Given the description of an element on the screen output the (x, y) to click on. 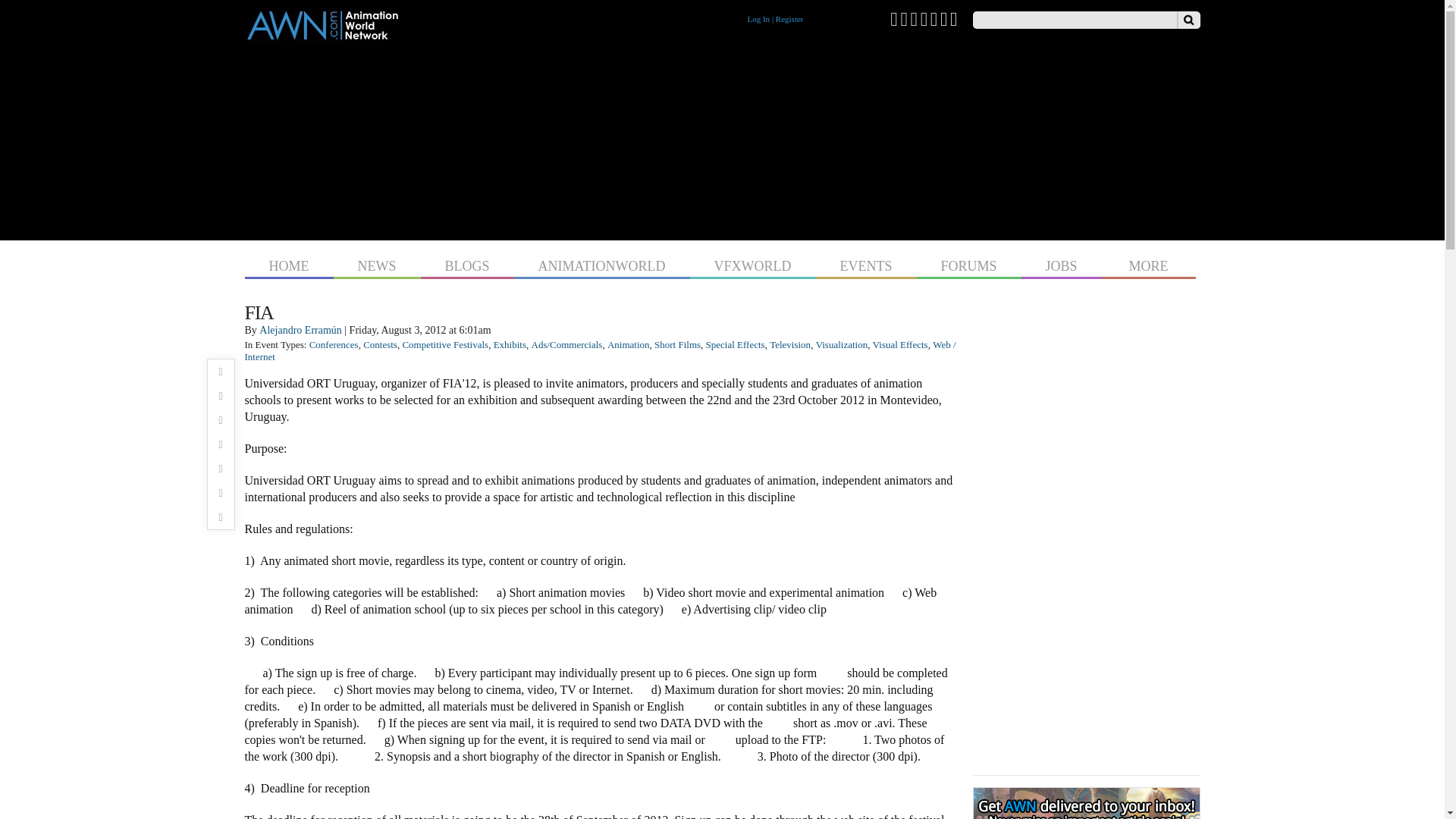
Conferences (333, 344)
Subscribe to AWN (954, 18)
VFXWORLD (752, 263)
Competitive Festivals (444, 344)
Contests (379, 344)
Visit AWN on LinkedIn (933, 18)
MORE (1148, 263)
Visit AWN on Instagram (924, 18)
Log In (758, 18)
FORUMS (967, 263)
3rd party ad content (722, 137)
EVENTS (866, 263)
Subscribe to AWN (954, 18)
Search (1187, 19)
Exhibits (509, 344)
